Given the description of an element on the screen output the (x, y) to click on. 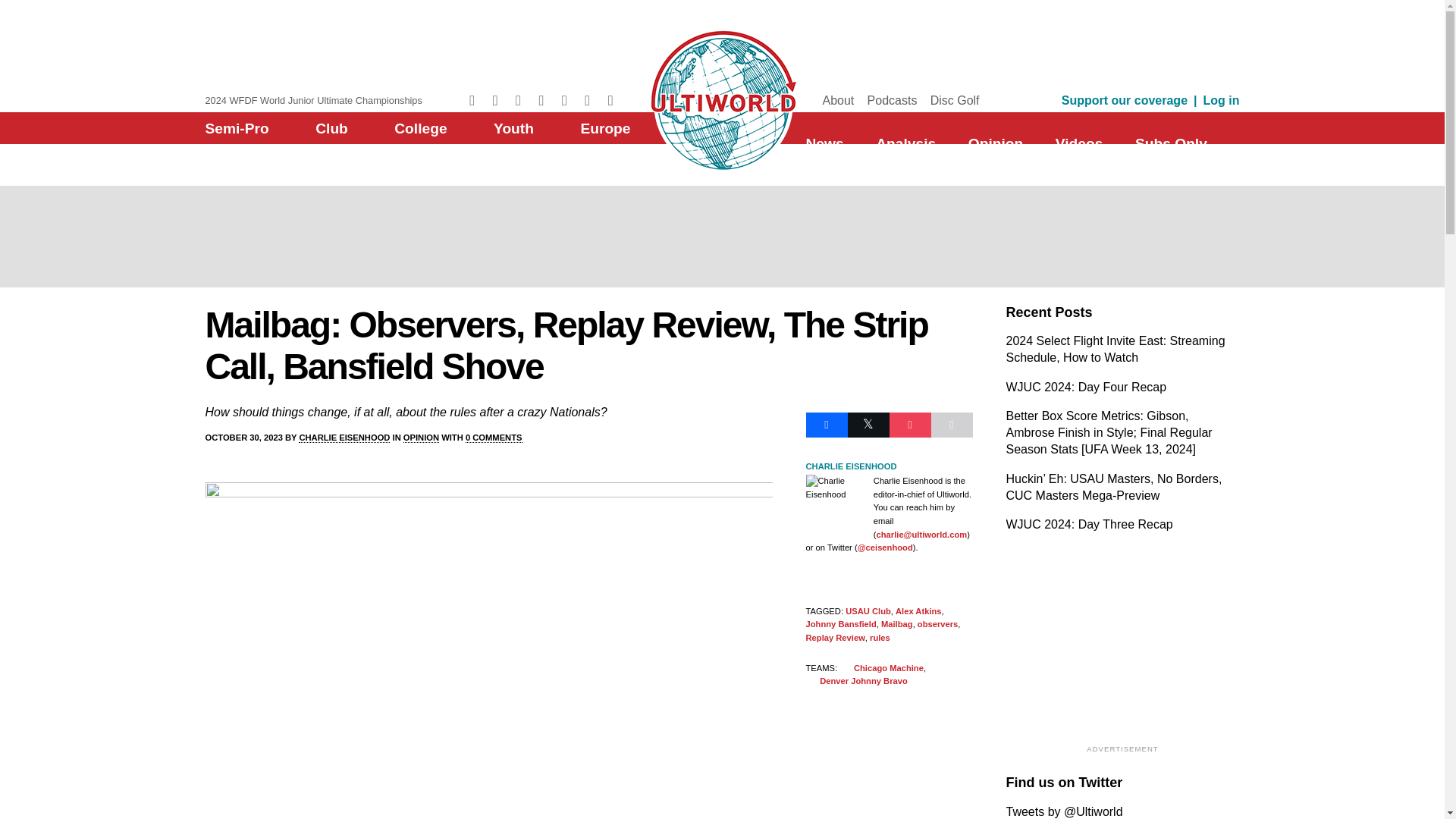
Opinion (995, 143)
Podcasts (892, 100)
Disc Golf (954, 100)
View all posts by Charlie Eisenhood (344, 438)
Europe (604, 128)
Support our coverage (1124, 100)
Ultiworld (721, 98)
Videos (1079, 143)
Log in (1222, 100)
Subs Only (1171, 143)
About (837, 100)
Club (331, 128)
2024 WFDF World Junior Ultimate Championships (313, 100)
College (420, 128)
Youth (513, 128)
